Given the description of an element on the screen output the (x, y) to click on. 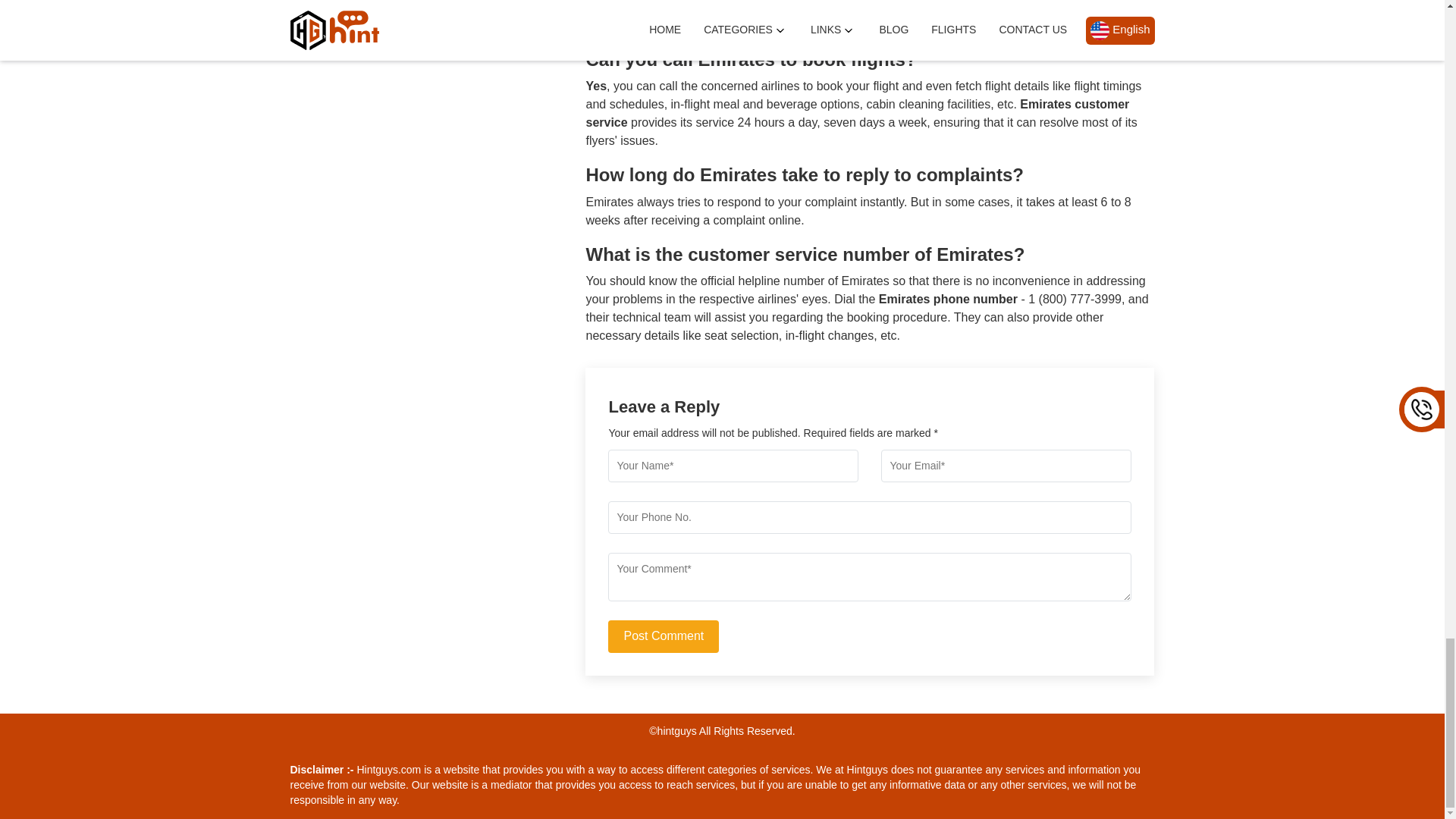
Post Comment (663, 635)
